Given the description of an element on the screen output the (x, y) to click on. 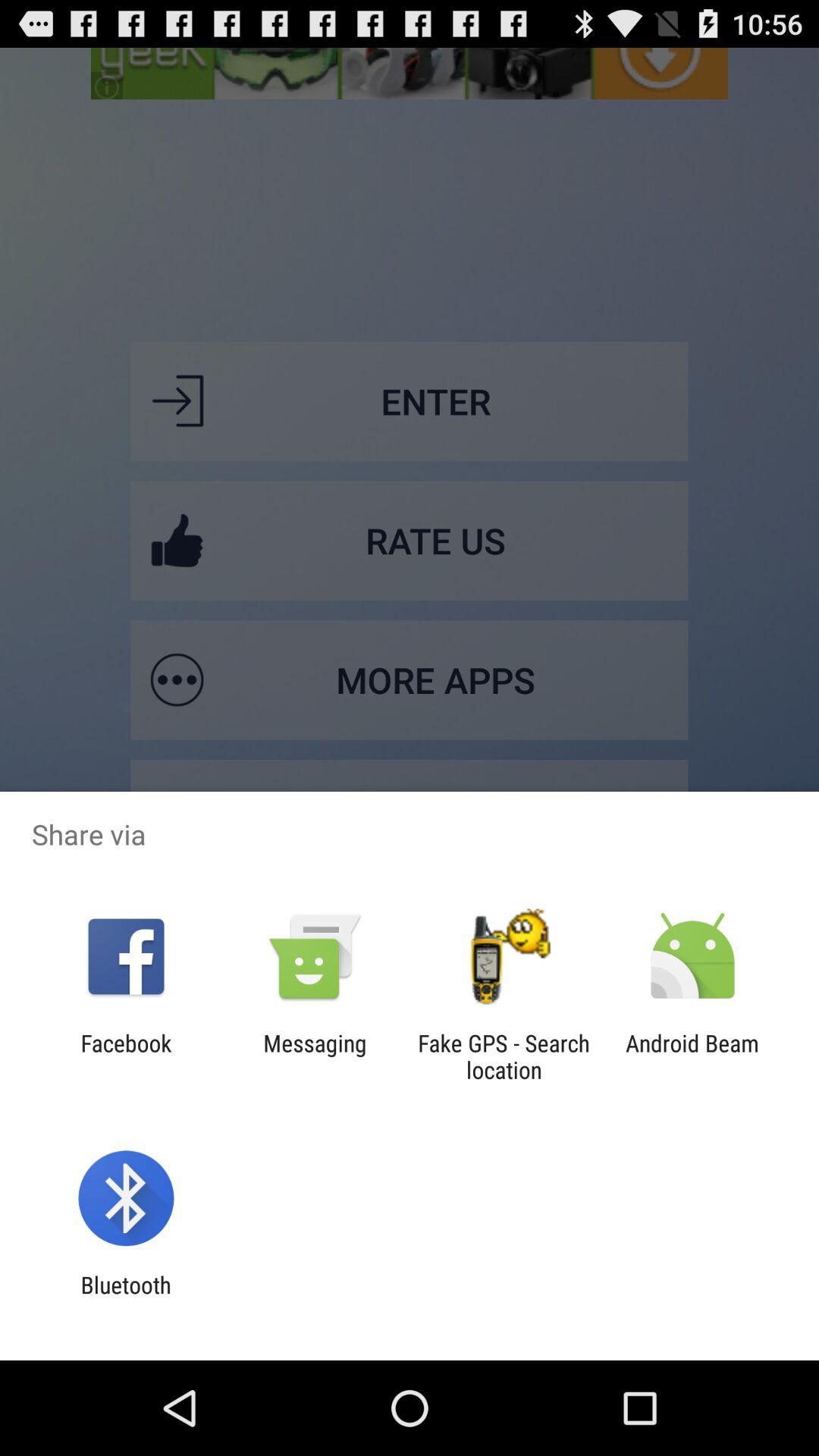
jump until the bluetooth (125, 1298)
